Given the description of an element on the screen output the (x, y) to click on. 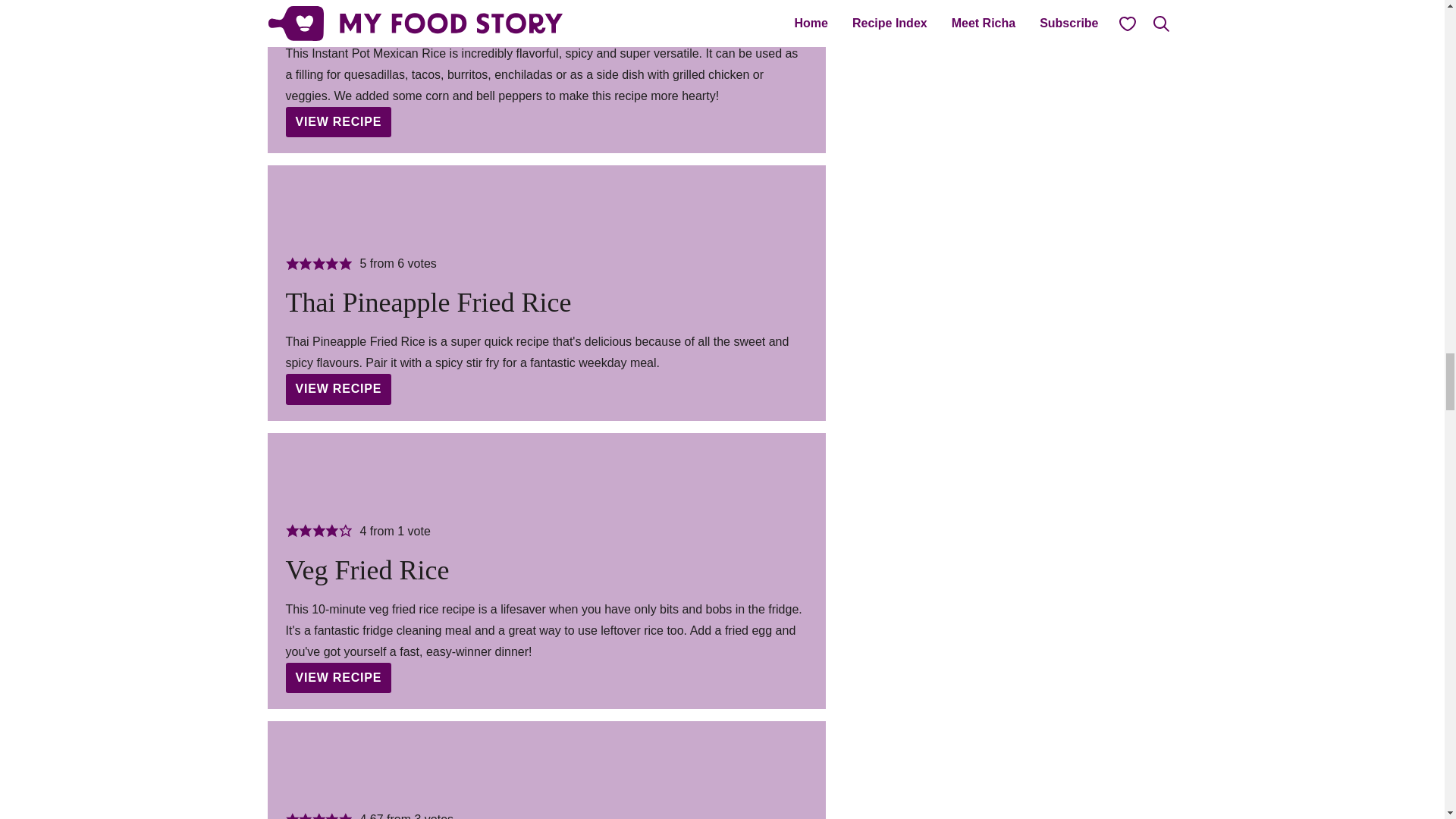
VIEW RECIPE (338, 122)
VIEW RECIPE (338, 388)
VIEW RECIPE (338, 677)
